Given the description of an element on the screen output the (x, y) to click on. 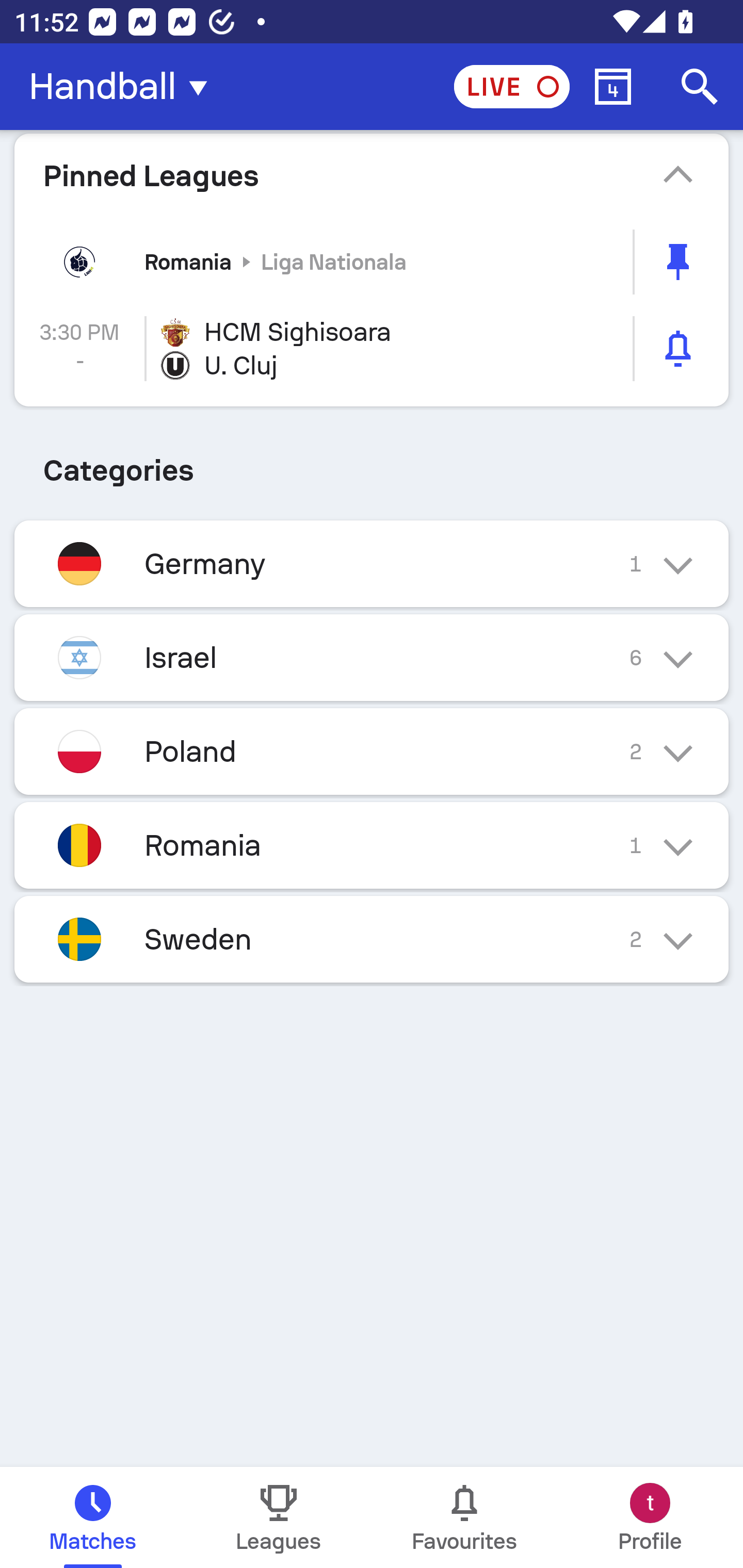
Handball (124, 86)
Calendar (612, 86)
Search (699, 86)
Pinned Leagues (371, 175)
Romania Liga Nationala (371, 261)
3:30 PM - HCM Sighisoara U. Cluj (371, 348)
Categories (371, 463)
Germany 1 (371, 563)
Israel 6 (371, 657)
Poland 2 (371, 751)
Romania 1 (371, 845)
Sweden 2 (371, 939)
Leagues (278, 1517)
Favourites (464, 1517)
Profile (650, 1517)
